Given the description of an element on the screen output the (x, y) to click on. 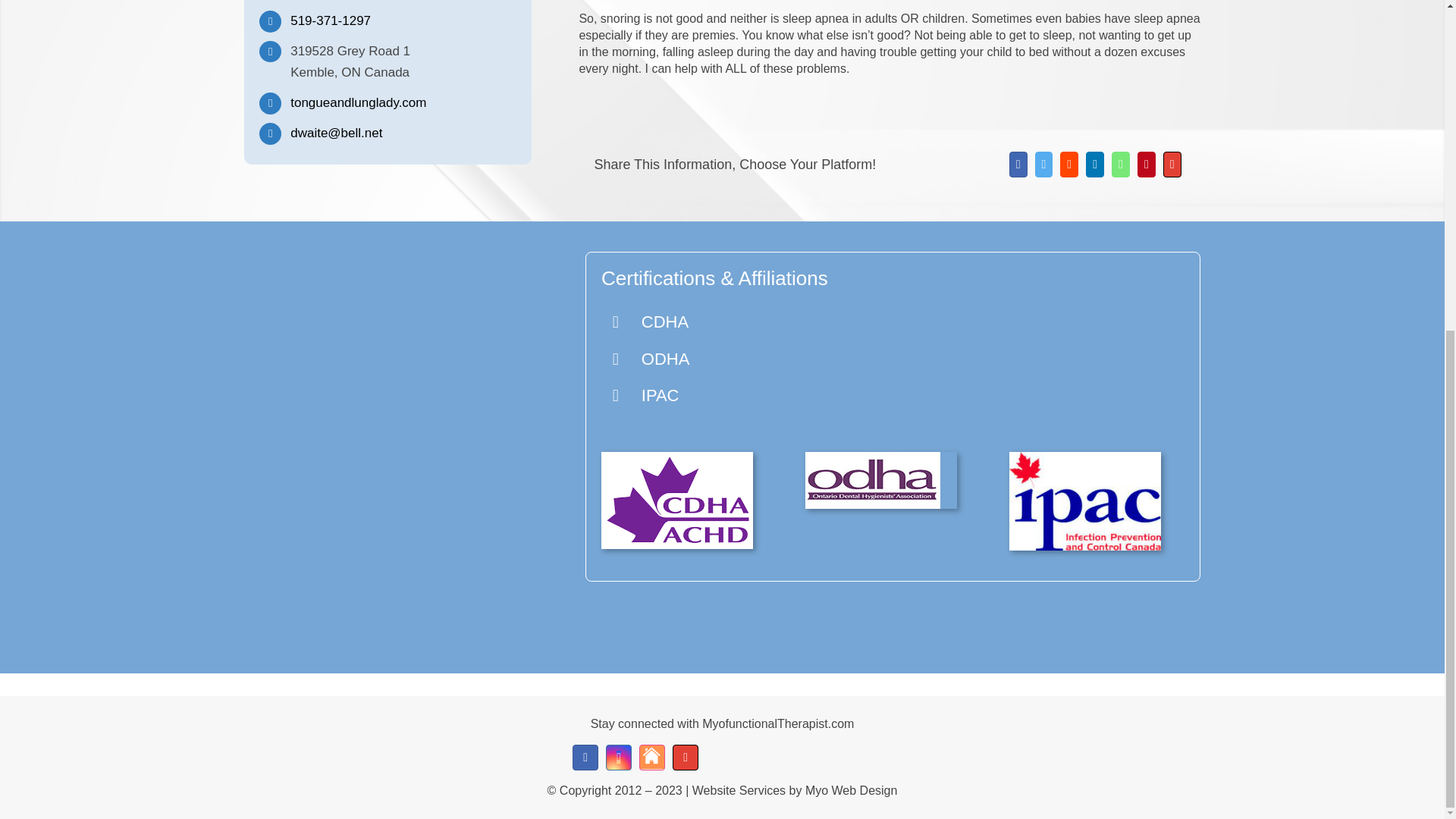
cdha-canada (676, 500)
Myo Web Design (851, 789)
tongueandlunglady.com (357, 102)
ipac-canada (1084, 501)
odha-canada (872, 480)
519-371-1297 (330, 20)
